Given the description of an element on the screen output the (x, y) to click on. 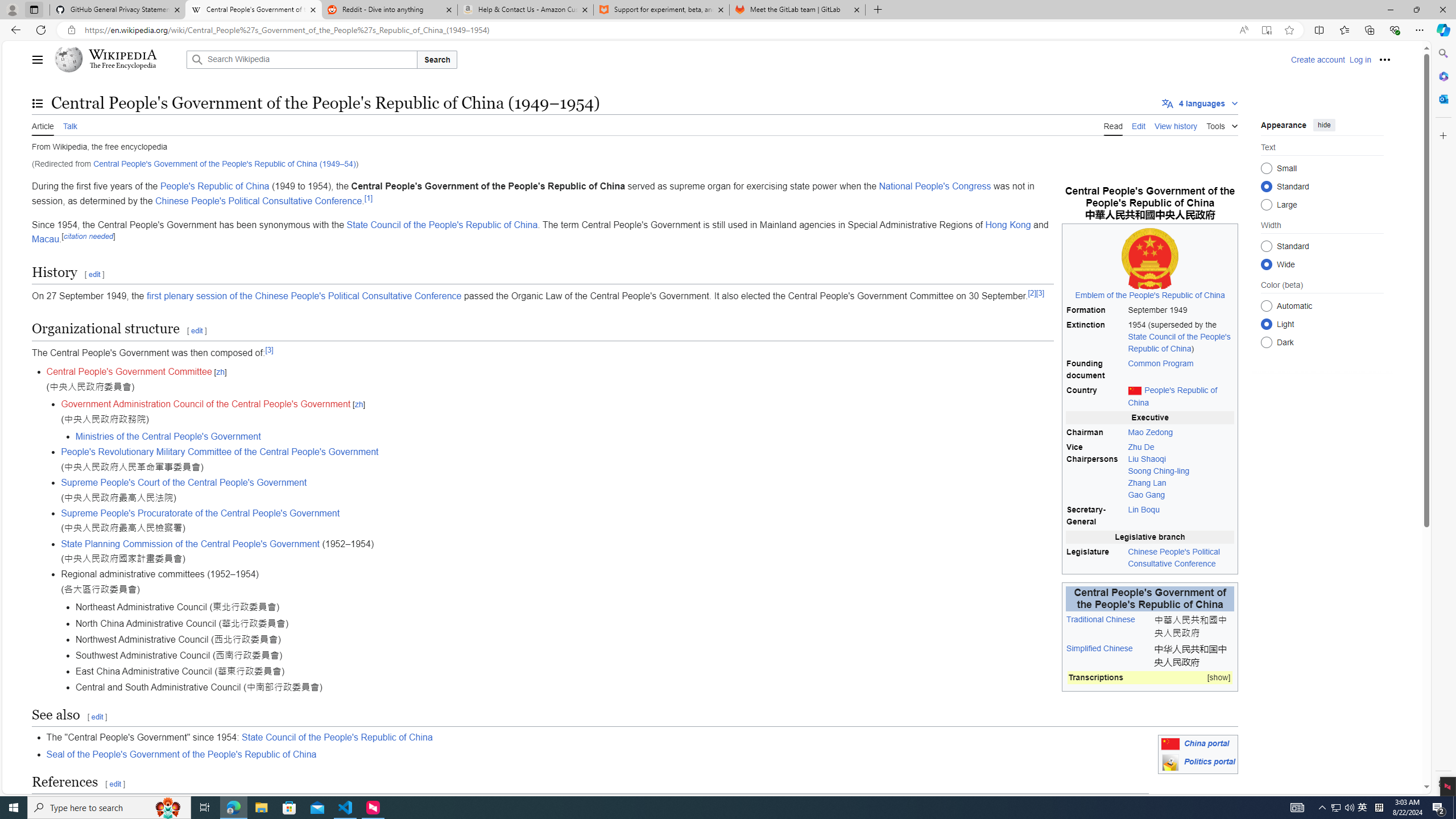
icon (1170, 762)
Formation (1095, 309)
Edit (1138, 124)
Create account (1317, 58)
Chairman (1095, 431)
Zhang Lan (1147, 483)
Ministries of the Central People's Government (167, 436)
